Given the description of an element on the screen output the (x, y) to click on. 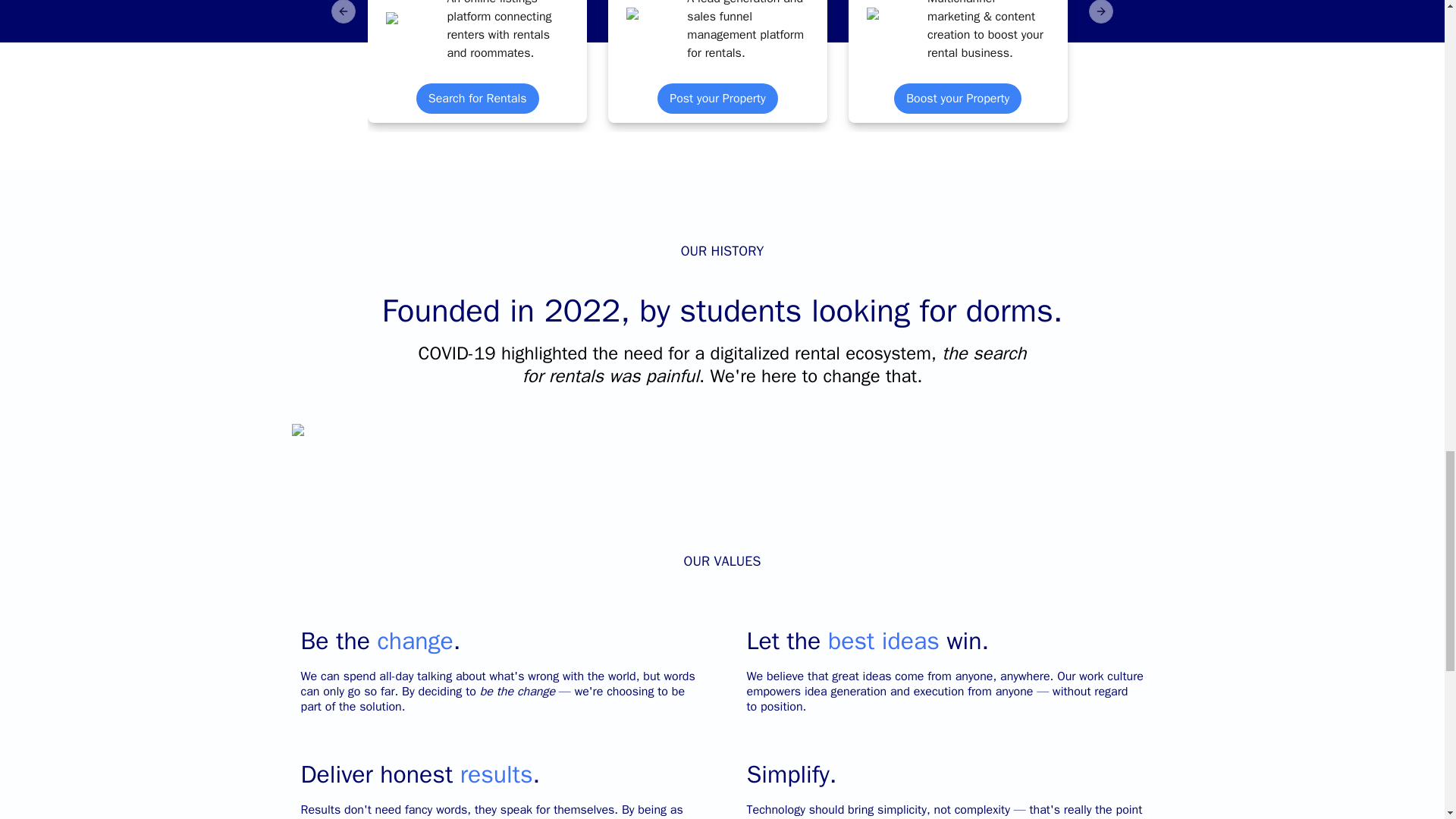
Search for Rentals (477, 98)
Boost your Property (957, 98)
Previous slide (343, 11)
Next slide (1101, 11)
Post your Property (717, 98)
